Given the description of an element on the screen output the (x, y) to click on. 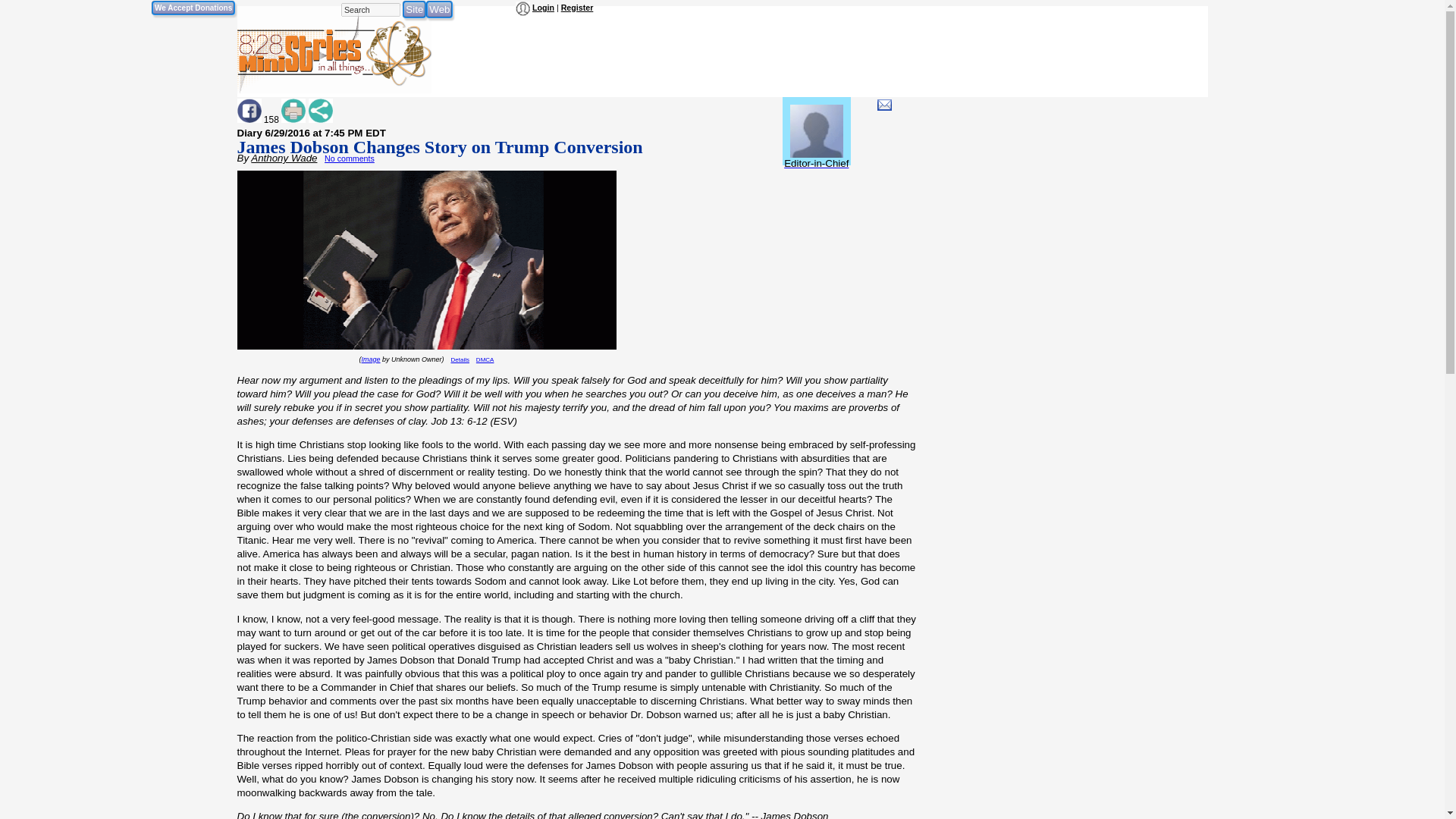
Share on Facebook (247, 110)
DMCA (485, 359)
Anthony Wade (283, 157)
Report Copyright Violation (485, 359)
More Sharing (320, 110)
Search (370, 9)
Editor-in-Chief (816, 156)
Site (414, 9)
James Dobson Changes Story on Trump Conversion (438, 147)
We Accept Donations (192, 7)
Web (439, 9)
No comments (349, 157)
Details (459, 359)
Register (577, 7)
Printer Friendly Page (293, 110)
